Given the description of an element on the screen output the (x, y) to click on. 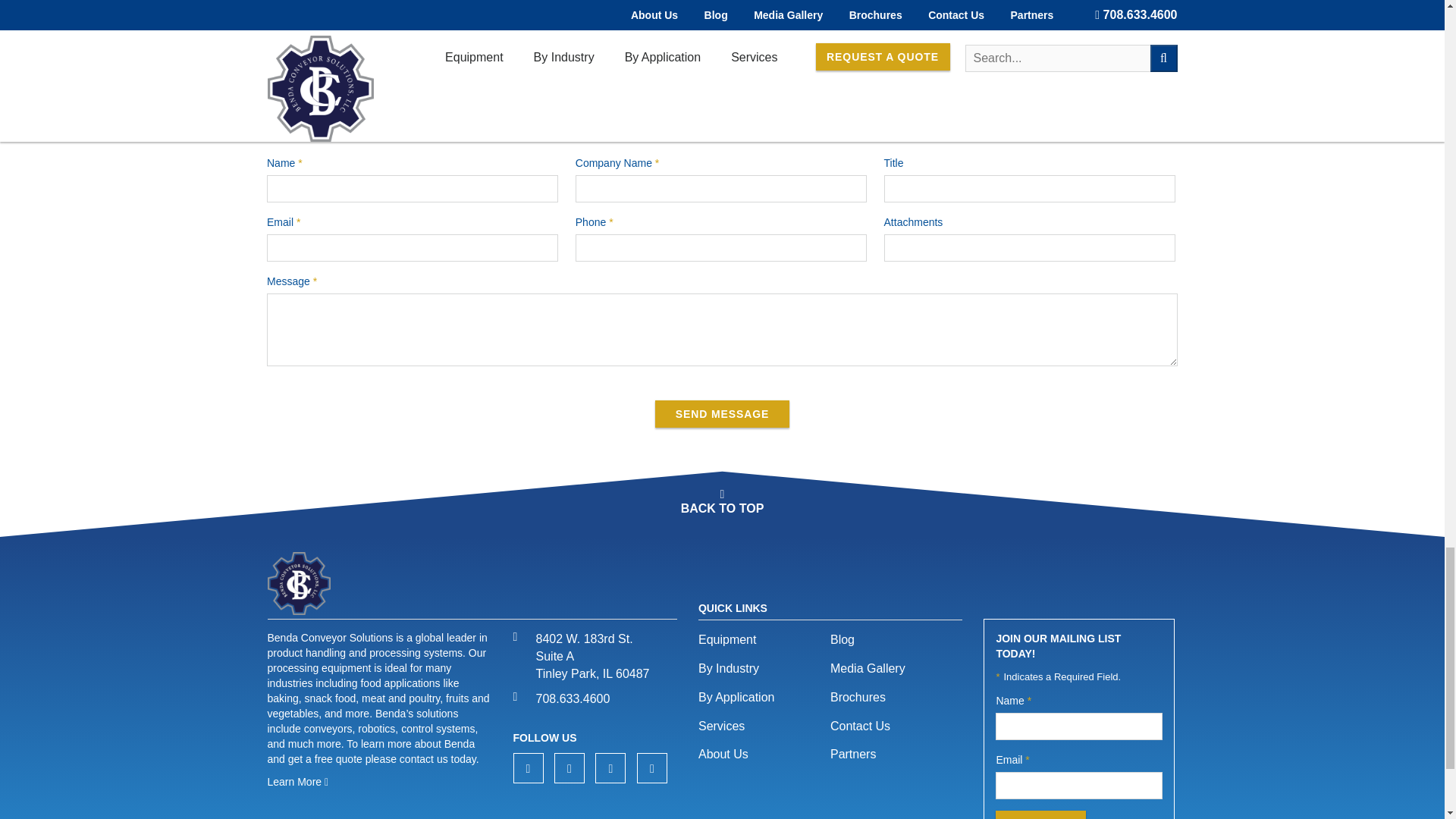
Send Message (722, 413)
